Given the description of an element on the screen output the (x, y) to click on. 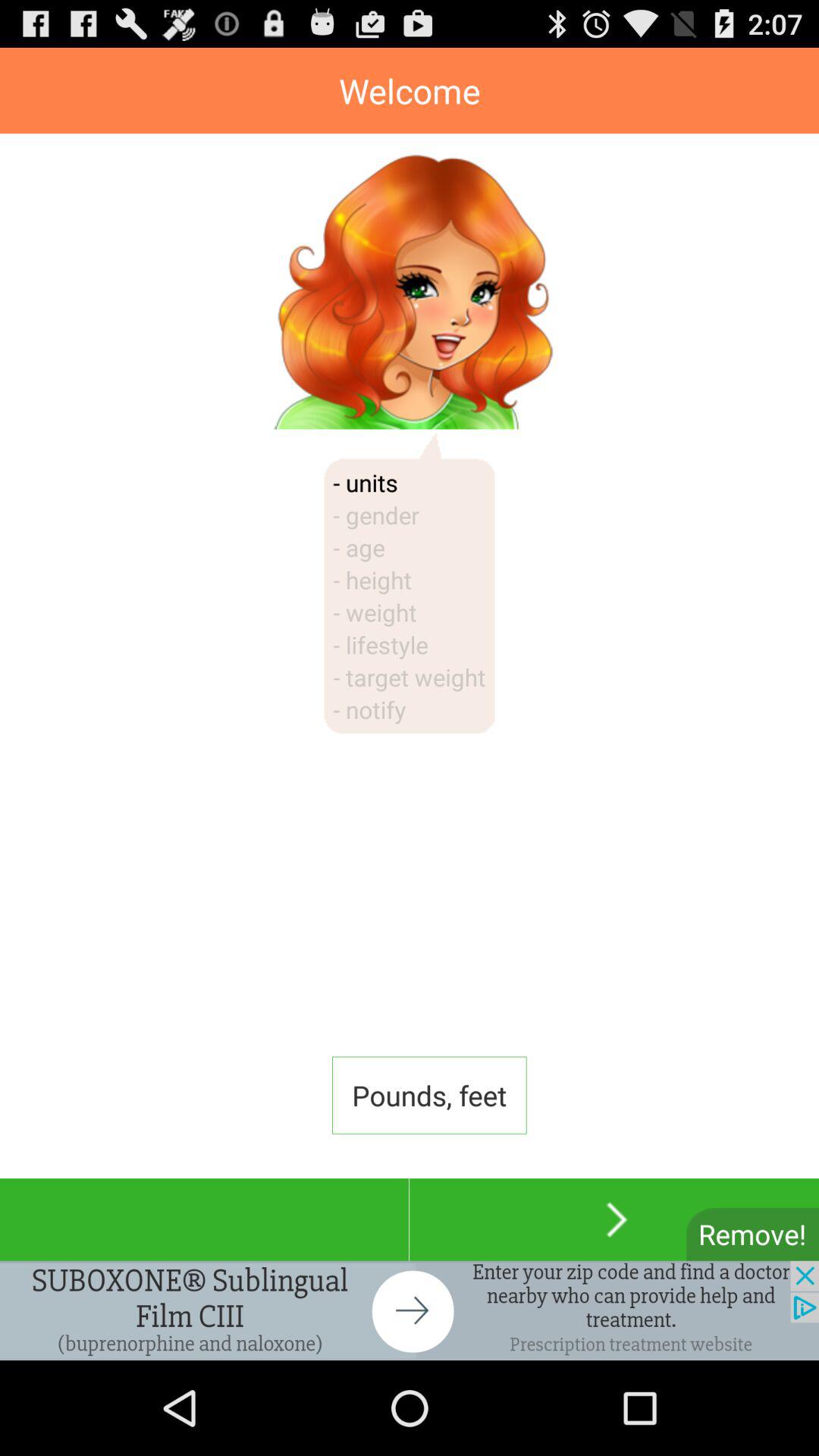
go to next (614, 1219)
